Given the description of an element on the screen output the (x, y) to click on. 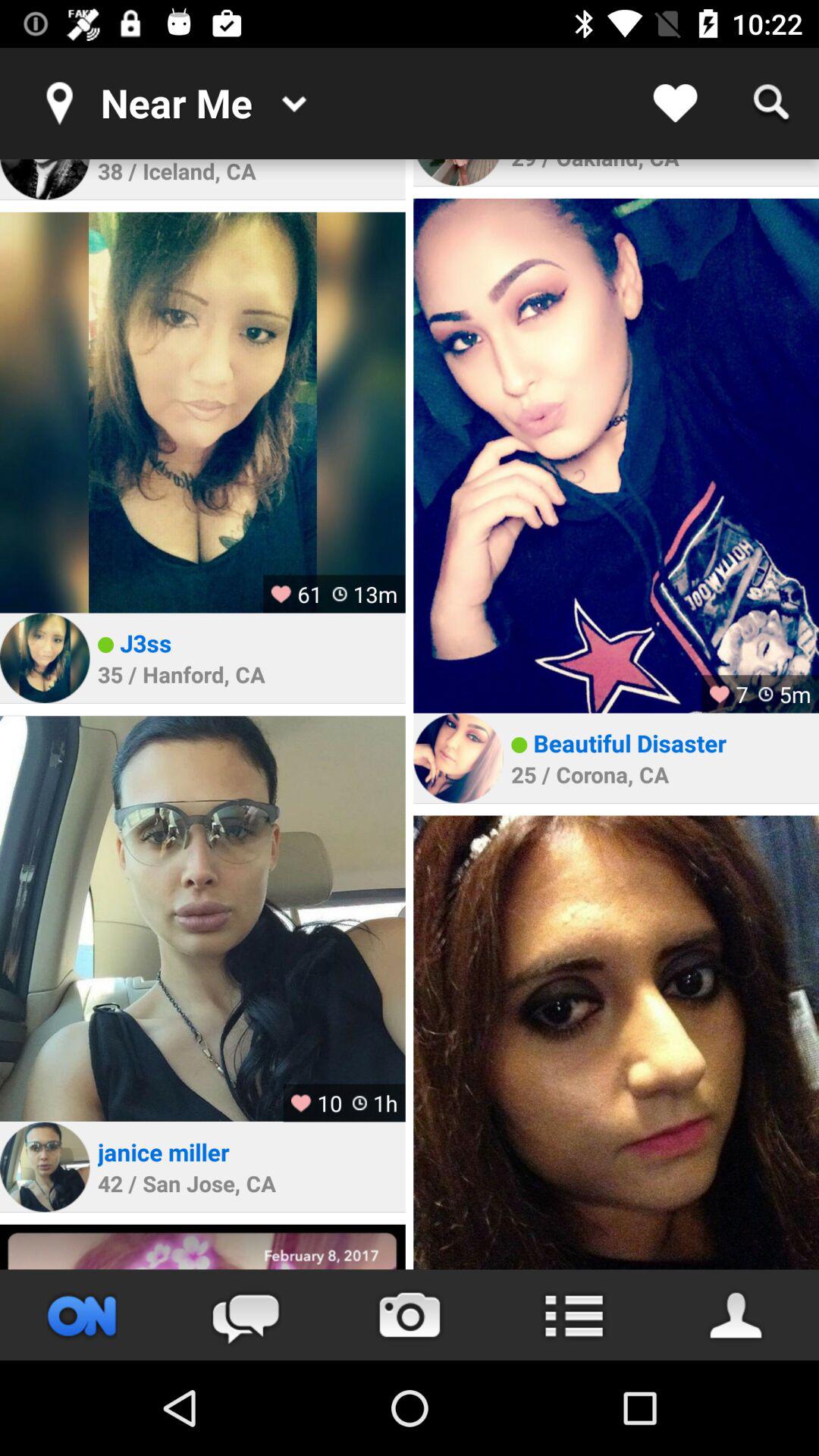
switch menu option (573, 1315)
